Given the description of an element on the screen output the (x, y) to click on. 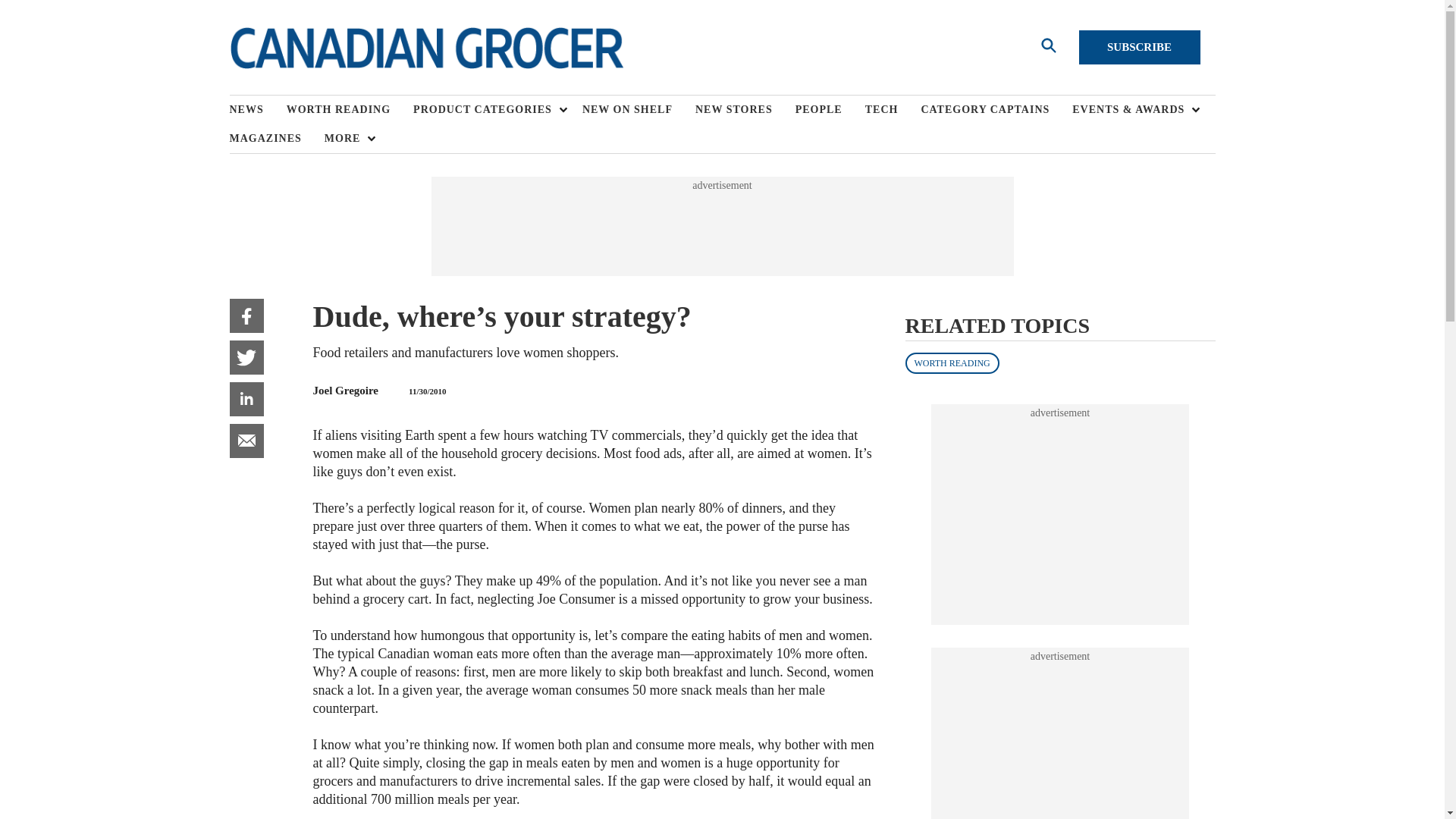
linkedIn (245, 399)
facebook (245, 315)
3rd party ad content (1059, 514)
email (245, 440)
3rd party ad content (721, 226)
3rd party ad content (1059, 741)
WORTH READING (349, 109)
PEOPLE (829, 109)
NEW STORES (744, 109)
twitter (245, 357)
MORE (346, 138)
facebook (245, 315)
PRODUCT CATEGORIES (486, 109)
SUBSCRIBE (1138, 47)
CATEGORY CAPTAINS (995, 109)
